Given the description of an element on the screen output the (x, y) to click on. 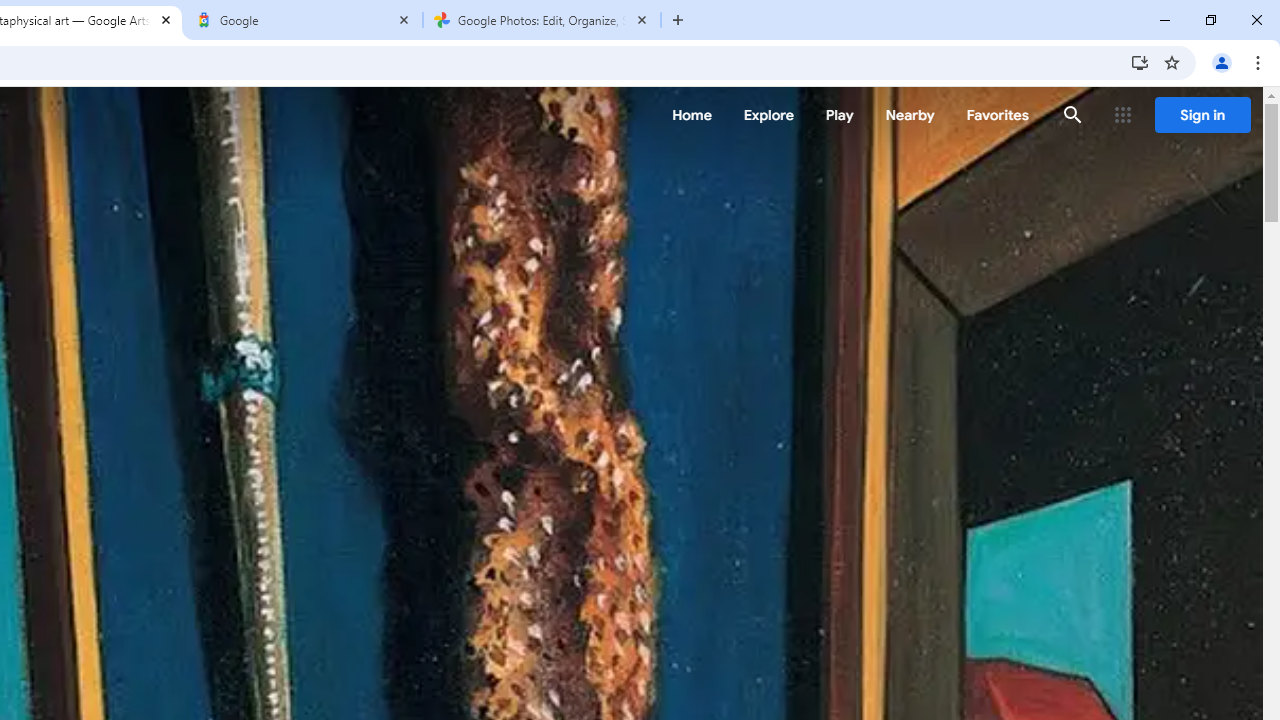
Play (840, 115)
